Given the description of an element on the screen output the (x, y) to click on. 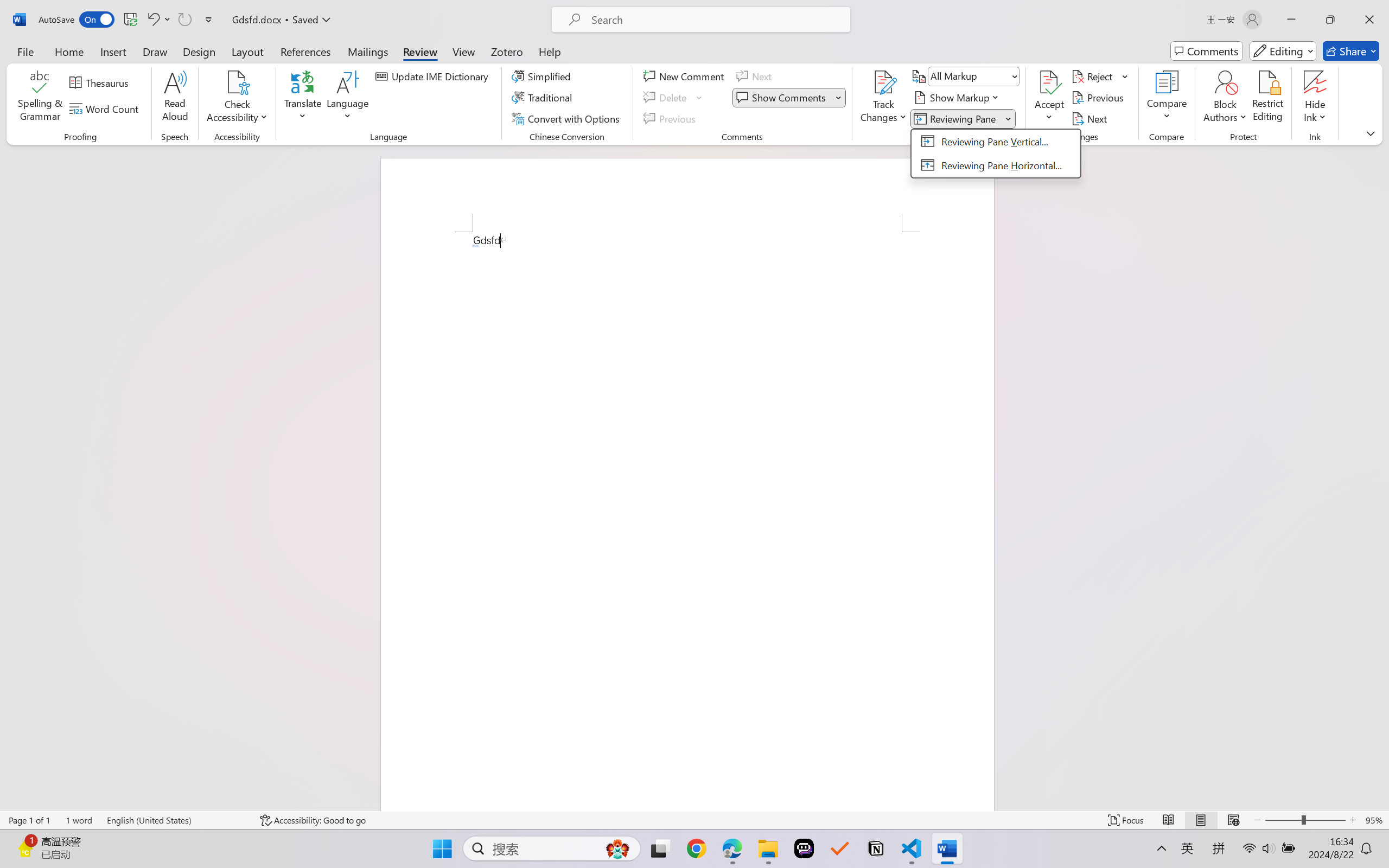
Block Authors (1224, 97)
Simplified (542, 75)
Read Aloud (174, 97)
Show Comments (782, 97)
